Given the description of an element on the screen output the (x, y) to click on. 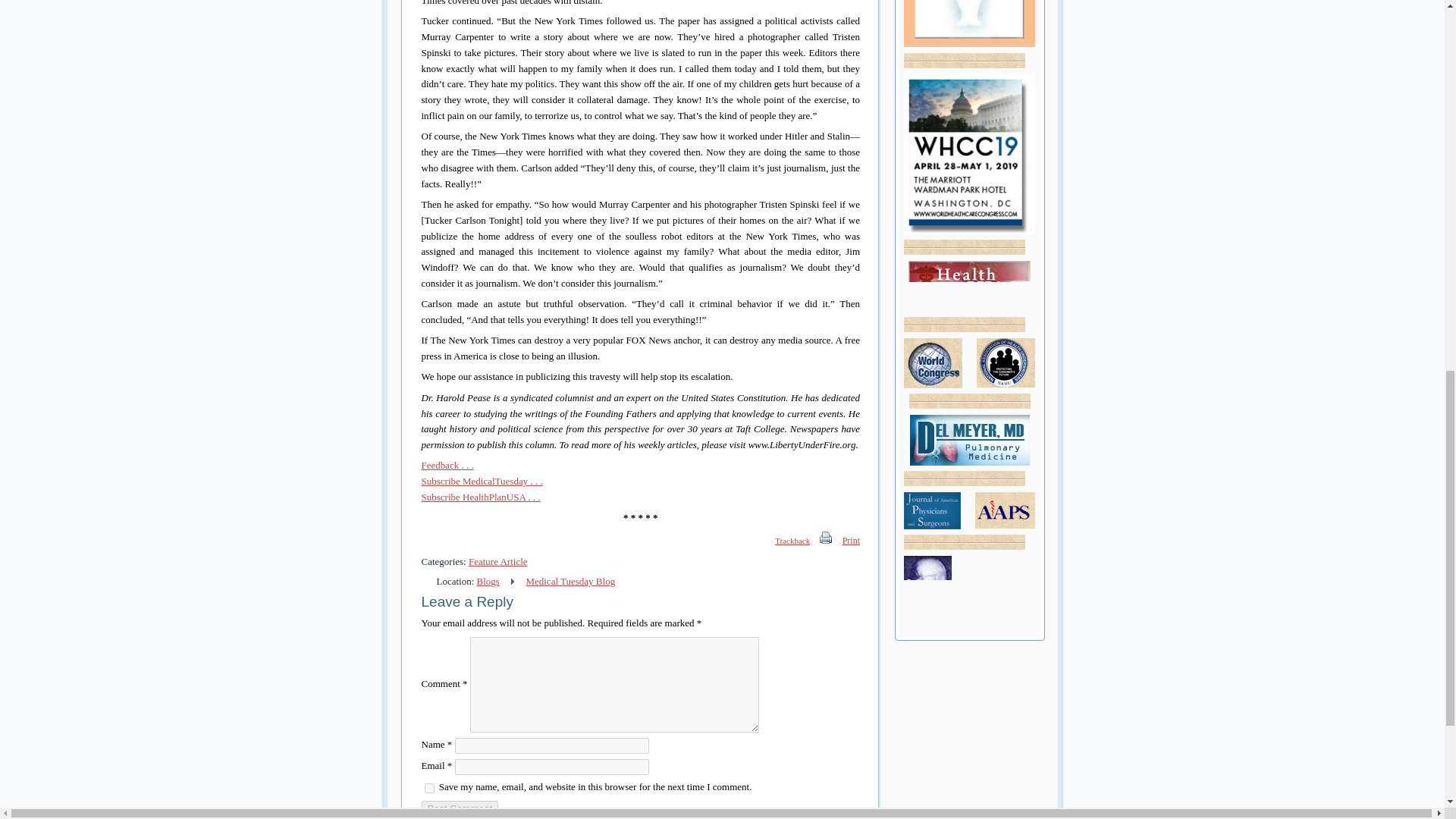
Print (826, 540)
Trackback (784, 540)
Subscribe MedicalTuesday . . . (482, 480)
Feature Article (497, 561)
Purchase this Handbook on Amazon (969, 23)
Subscribe HealthPlanUSA . . . (481, 496)
Blogs (488, 581)
Feedback . . . (448, 464)
yes (429, 787)
Post Comment (460, 808)
